Given the description of an element on the screen output the (x, y) to click on. 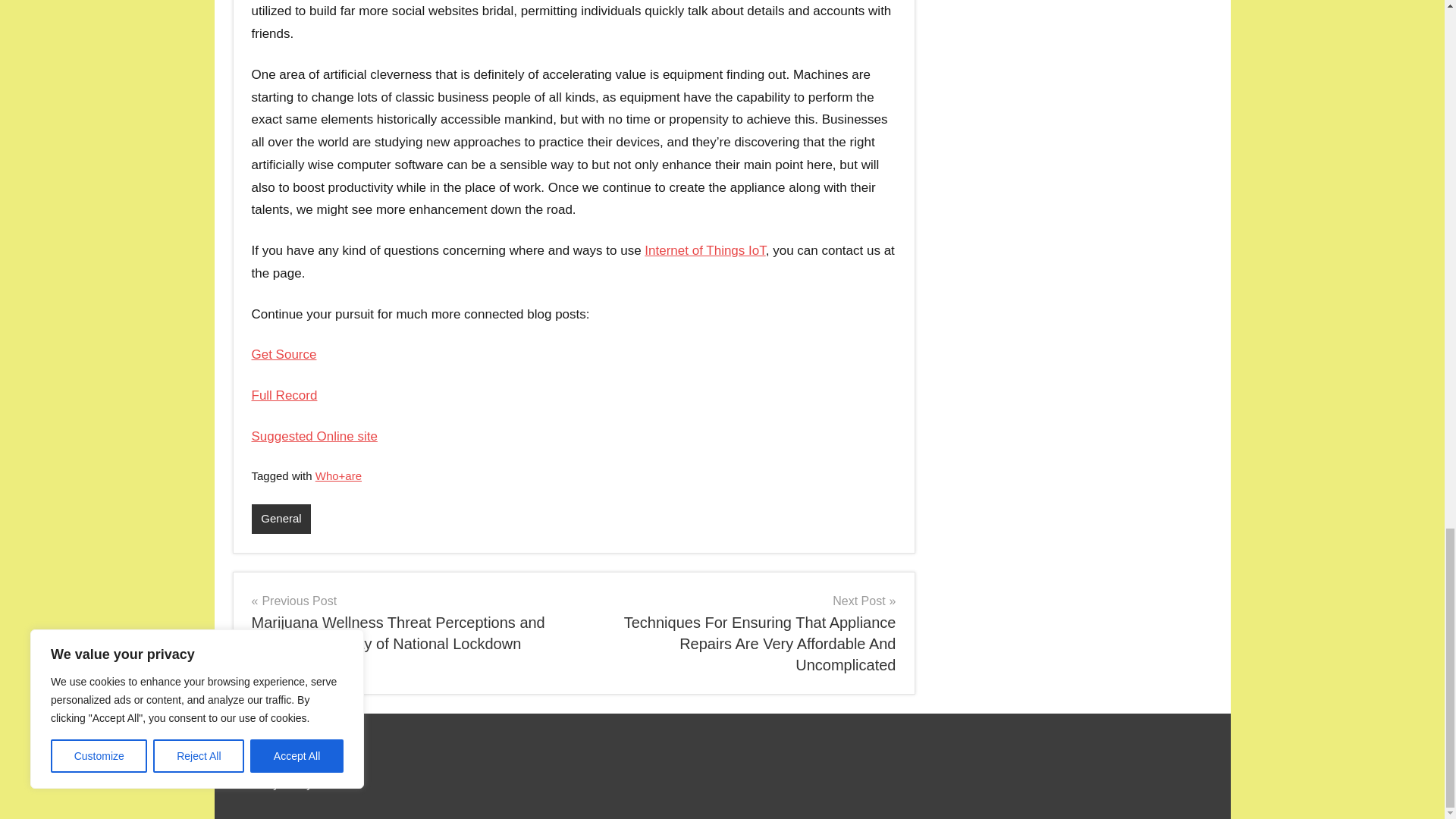
Get Source (284, 354)
Full Record (284, 395)
Internet of Things IoT (705, 250)
Suggested Online site (314, 436)
General (281, 518)
